Given the description of an element on the screen output the (x, y) to click on. 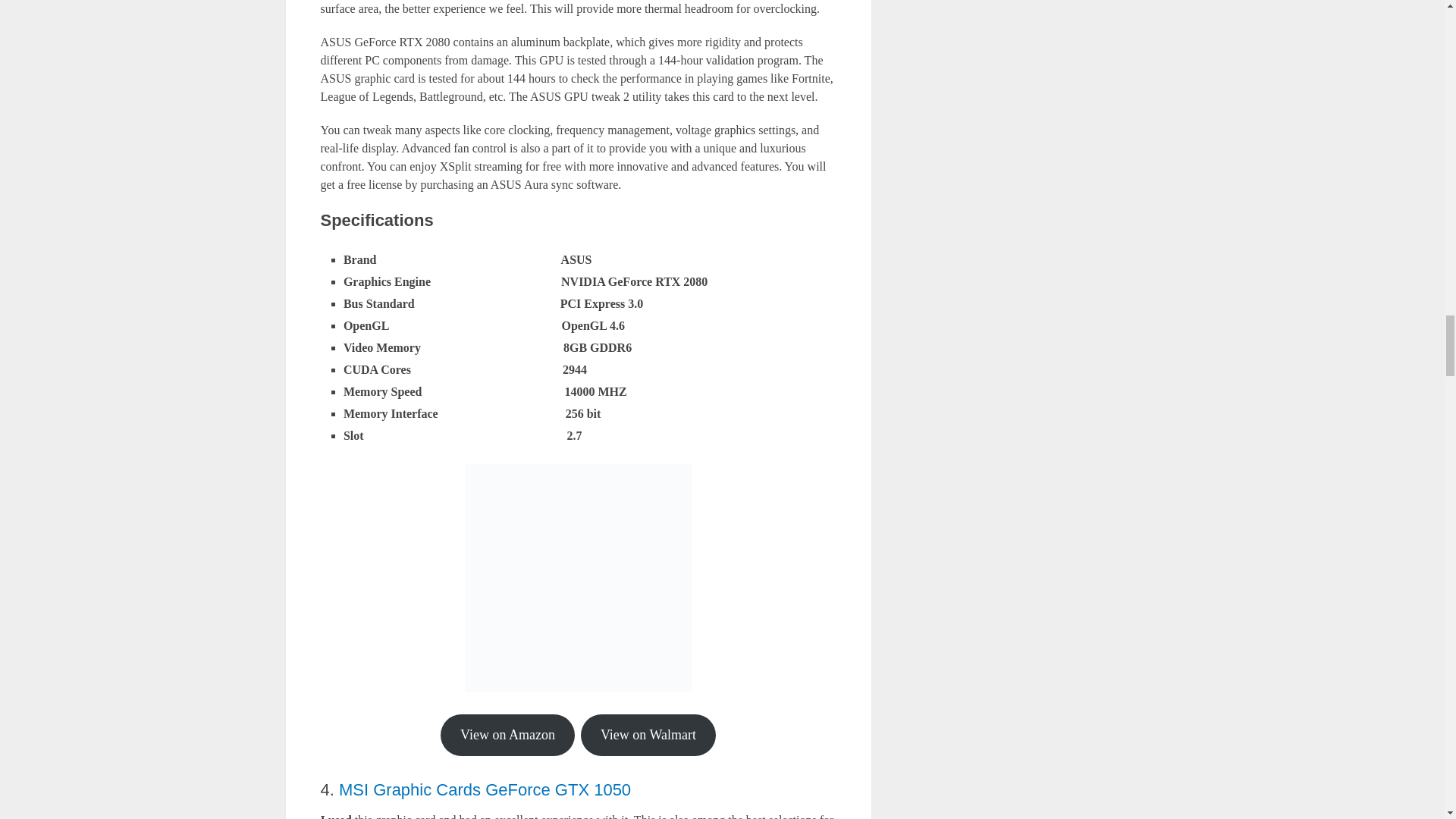
View on Amazon (508, 734)
MSI Graphic Cards GeForce GTX 1050 (484, 789)
View on Walmart (648, 734)
